Given the description of an element on the screen output the (x, y) to click on. 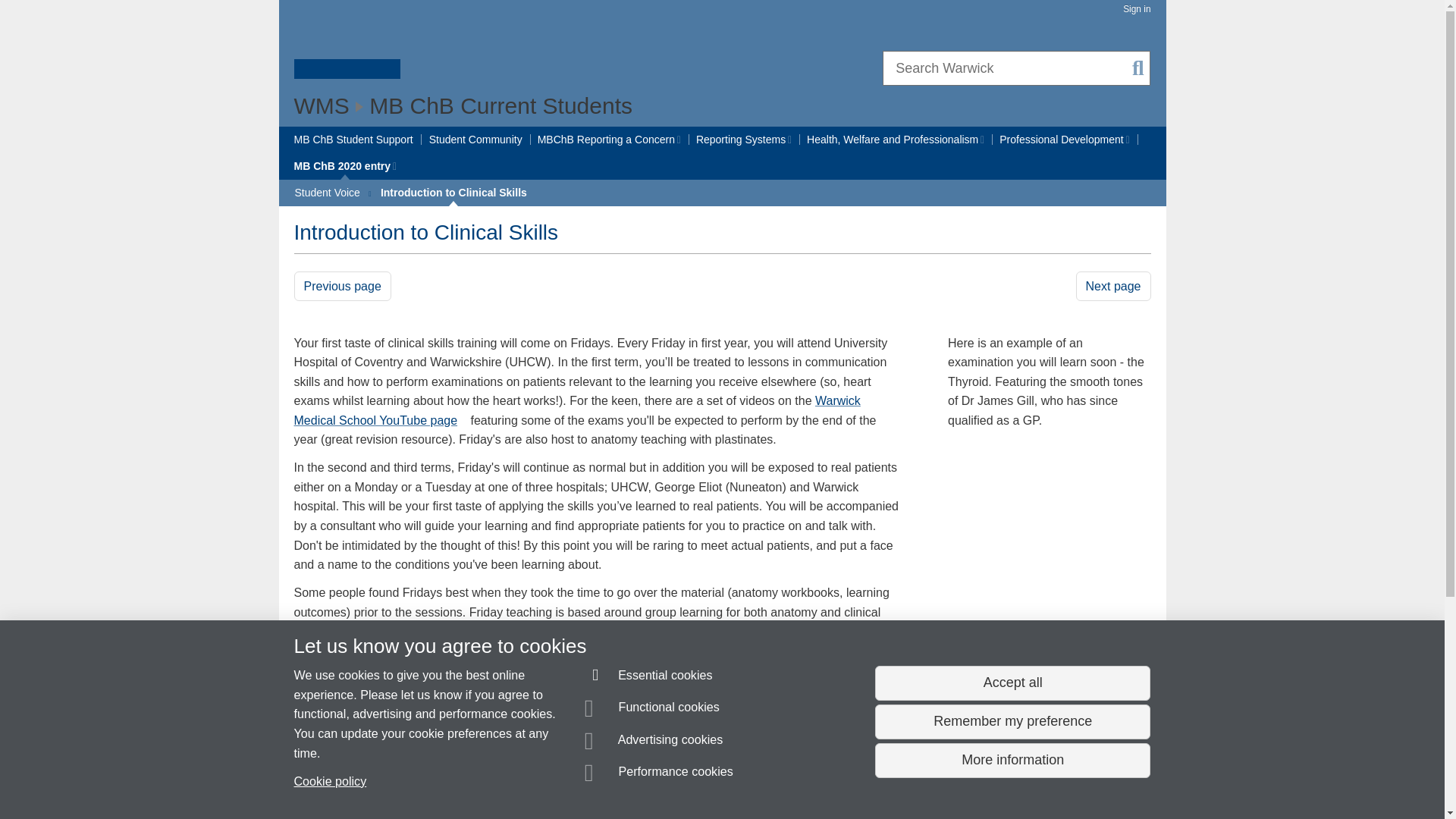
Search (1138, 68)
Student Community (475, 139)
Sign in (1136, 9)
WMS (321, 105)
Restricted permissions (789, 140)
MB ChB Student Support (353, 139)
WMS home page (321, 105)
MB ChB Current Students (500, 105)
Restricted permissions (1126, 140)
University of Warwick homepage (346, 48)
Restricted permissions (393, 166)
